Given the description of an element on the screen output the (x, y) to click on. 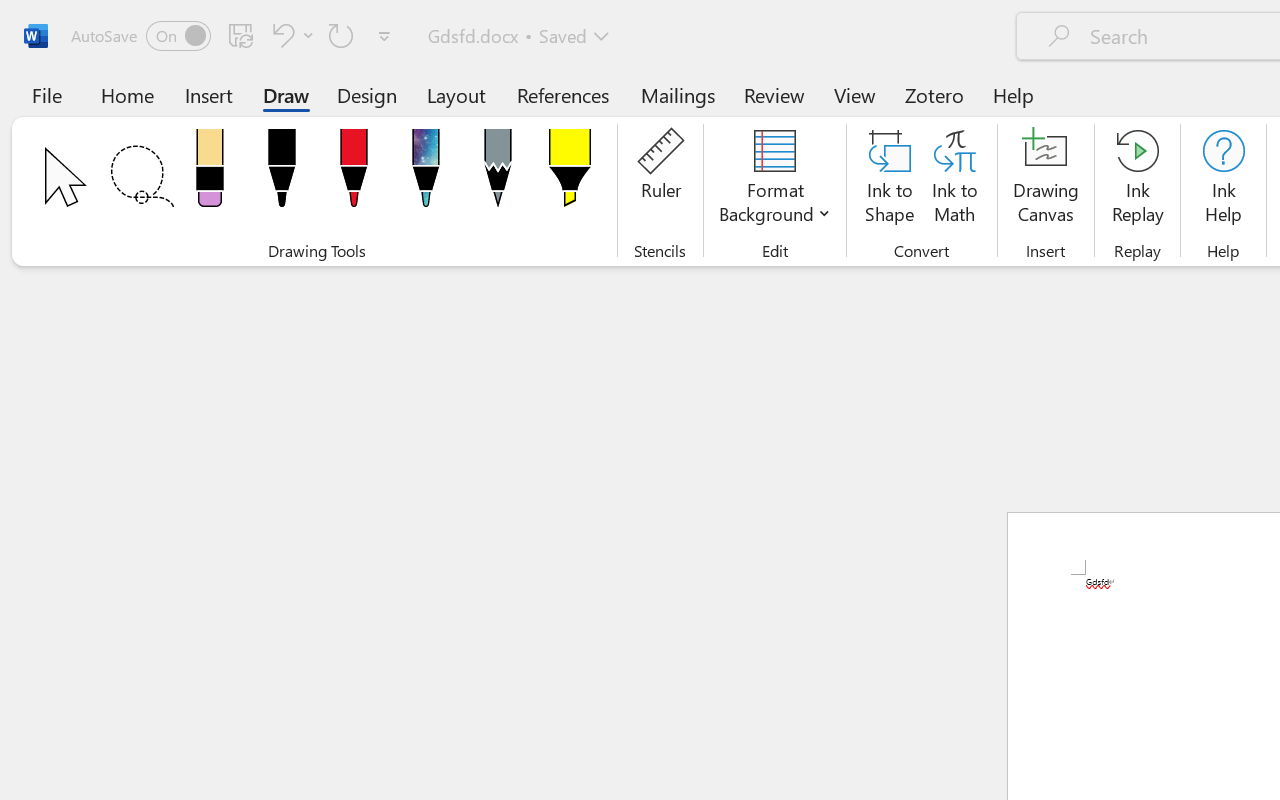
Ink Replay (1137, 179)
Pen: Galaxy, 1 mm (426, 173)
Ruler (660, 179)
Pen: Red, 0.5 mm (353, 173)
Pen: Black, 0.5 mm (281, 173)
